Given the description of an element on the screen output the (x, y) to click on. 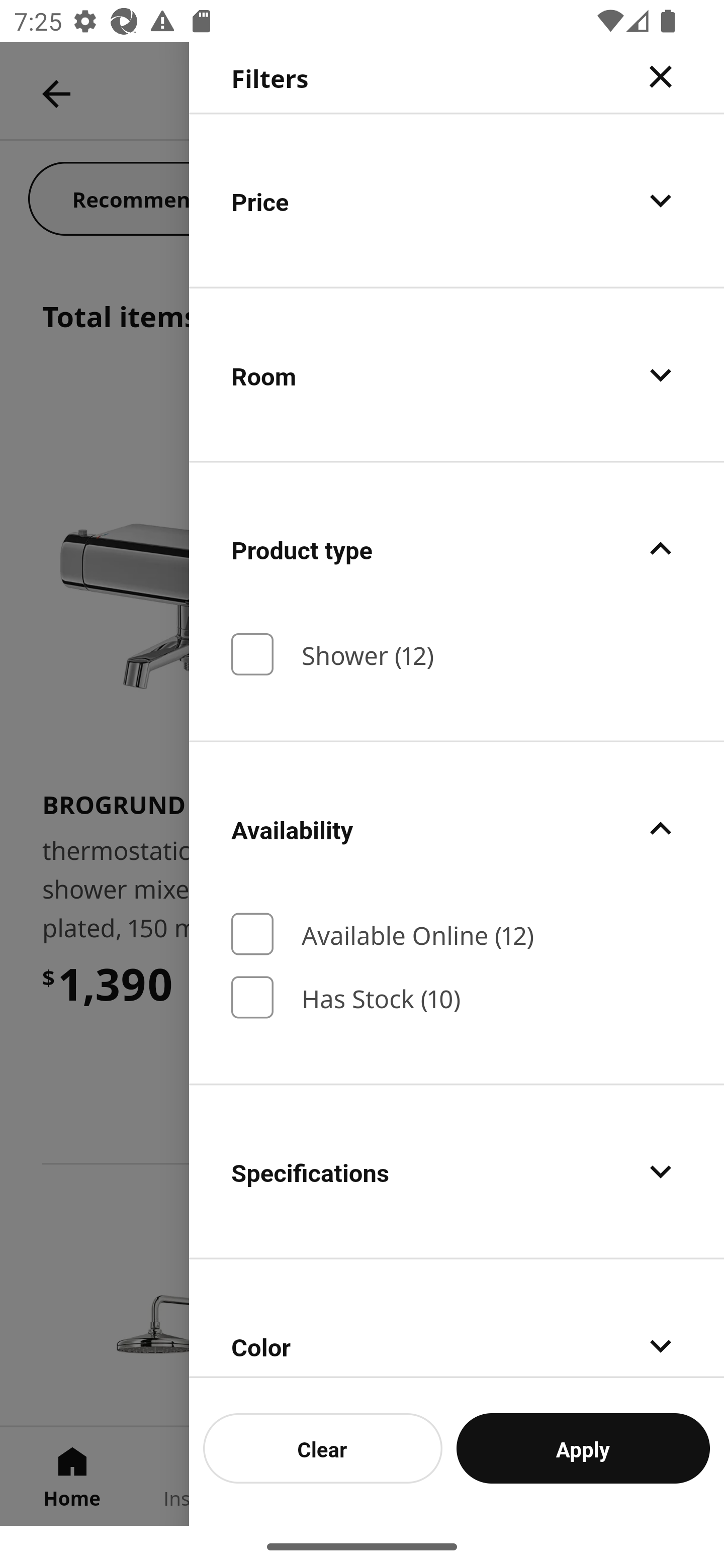
Price (456, 200)
Room (456, 374)
Product type (456, 548)
Shower (12) (456, 654)
Availability (456, 828)
Available Online (12) (456, 933)
Has Stock (10) (456, 997)
Specifications (456, 1170)
Color (456, 1318)
Clear (322, 1447)
Apply (583, 1447)
